Given the description of an element on the screen output the (x, y) to click on. 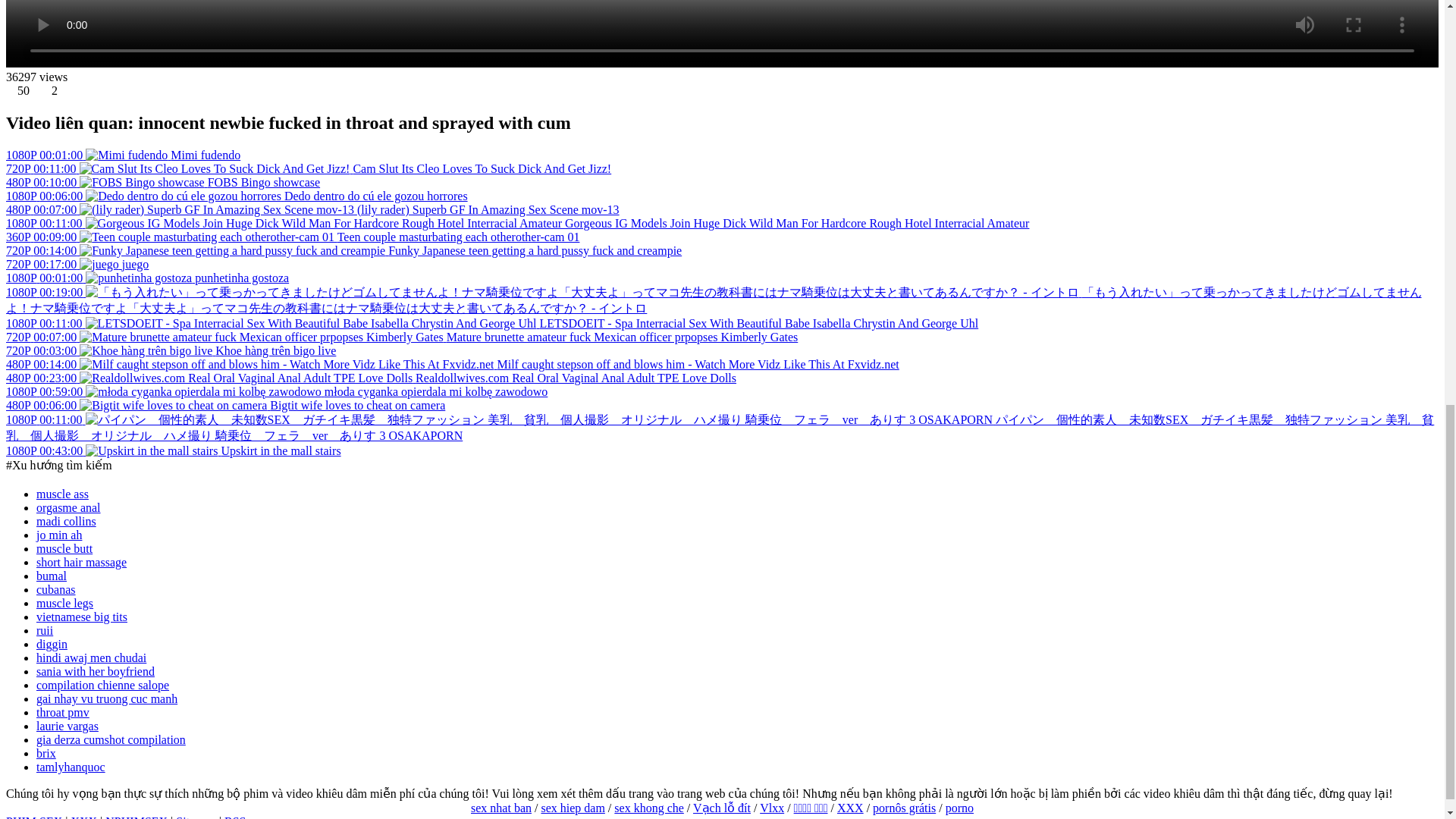
juego (135, 264)
480P 00:07:00 (180, 209)
1080P 00:06:00 (144, 195)
480P 00:10:00 (106, 182)
1080P 00:01:00 (87, 154)
Funky Japanese teen getting a hard pussy fuck and creampie (534, 250)
Cam Slut Its Cleo Loves To Suck Dick And Get Jizz! (481, 168)
Mimi fudendo (87, 154)
FOBS Bingo showcase (264, 182)
1080P 00:11:00 (284, 223)
720P 00:14:00 (196, 250)
Mimi fudendo (205, 154)
Teen couple masturbating each otherother-cam 01 (458, 236)
I like this (24, 90)
